Given the description of an element on the screen output the (x, y) to click on. 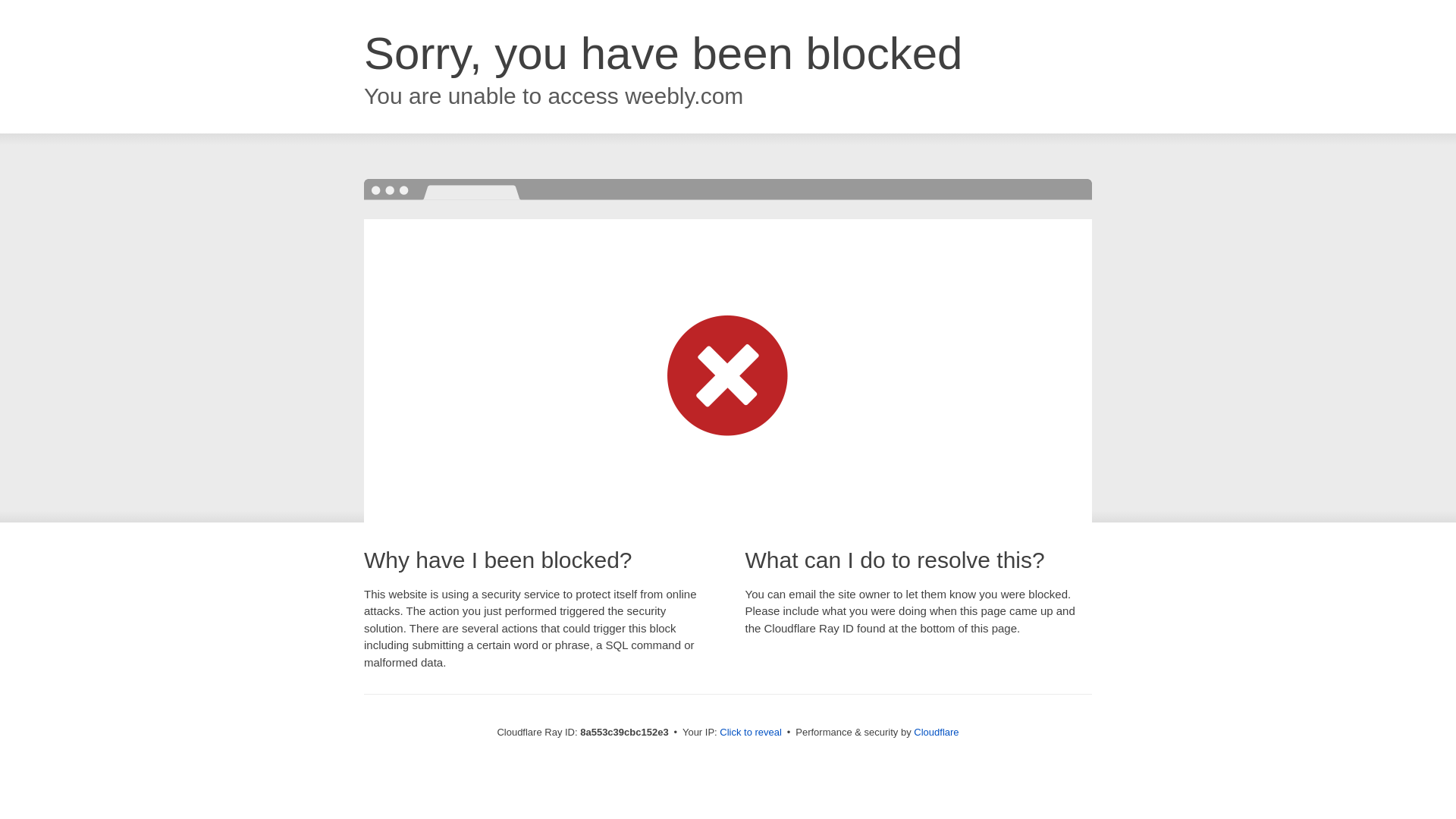
Cloudflare (936, 731)
Click to reveal (750, 732)
